Given the description of an element on the screen output the (x, y) to click on. 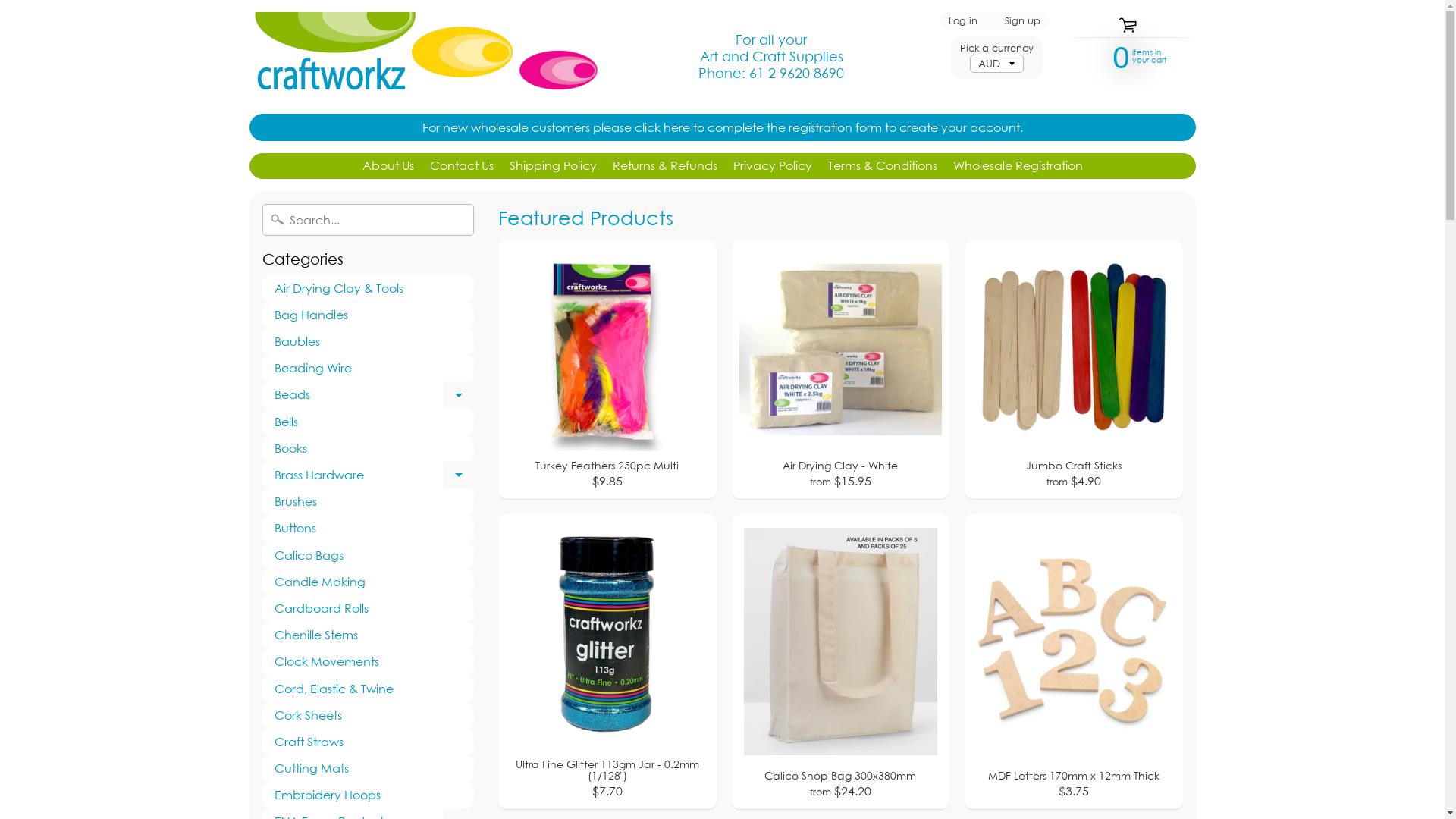
Bag Handles Element type: text (368, 314)
Buttons Element type: text (368, 527)
Ultra Fine Glitter 113gm Jar - 0.2mm (1/128")
$7.70 Element type: text (607, 661)
Candle Making Element type: text (368, 581)
Calico Shop Bag 300x380mm
from $24.20 Element type: text (840, 661)
Expand child menu Element type: text (458, 394)
Beading Wire Element type: text (368, 367)
Cardboard Rolls Element type: text (368, 608)
Brushes Element type: text (368, 501)
Clock Movements Element type: text (368, 661)
0
items in your cart Element type: text (1122, 56)
Wholesale Registration Element type: text (1017, 165)
Jumbo Craft Sticks
from $4.90 Element type: text (1073, 369)
Shipping Policy Element type: text (552, 165)
Air Drying Clay & Tools Element type: text (368, 288)
Sign up Element type: text (1022, 20)
About Us Element type: text (388, 165)
Books Element type: text (368, 448)
Expand child menu Element type: text (458, 474)
Terms & Conditions Element type: text (882, 165)
Beads
Expand child menu Element type: text (368, 394)
Bells Element type: text (368, 421)
Privacy Policy Element type: text (771, 165)
Brass Hardware
Expand child menu Element type: text (368, 474)
Cutting Mats Element type: text (368, 768)
Calico Bags Element type: text (368, 555)
Chenille Stems Element type: text (368, 634)
Cork Sheets Element type: text (368, 715)
Air Drying Clay - White
from $15.95 Element type: text (840, 369)
Embroidery Hoops Element type: text (368, 794)
Log in Element type: text (962, 20)
Turkey Feathers 250pc Multi
$9.85 Element type: text (607, 369)
Craft Straws Element type: text (368, 741)
Returns & Refunds Element type: text (664, 165)
Craftworkz Element type: hover (422, 56)
Baubles Element type: text (368, 341)
MDF Letters 170mm x 12mm Thick
$3.75 Element type: text (1073, 661)
Contact Us Element type: text (460, 165)
Cord, Elastic & Twine Element type: text (368, 687)
